Given the description of an element on the screen output the (x, y) to click on. 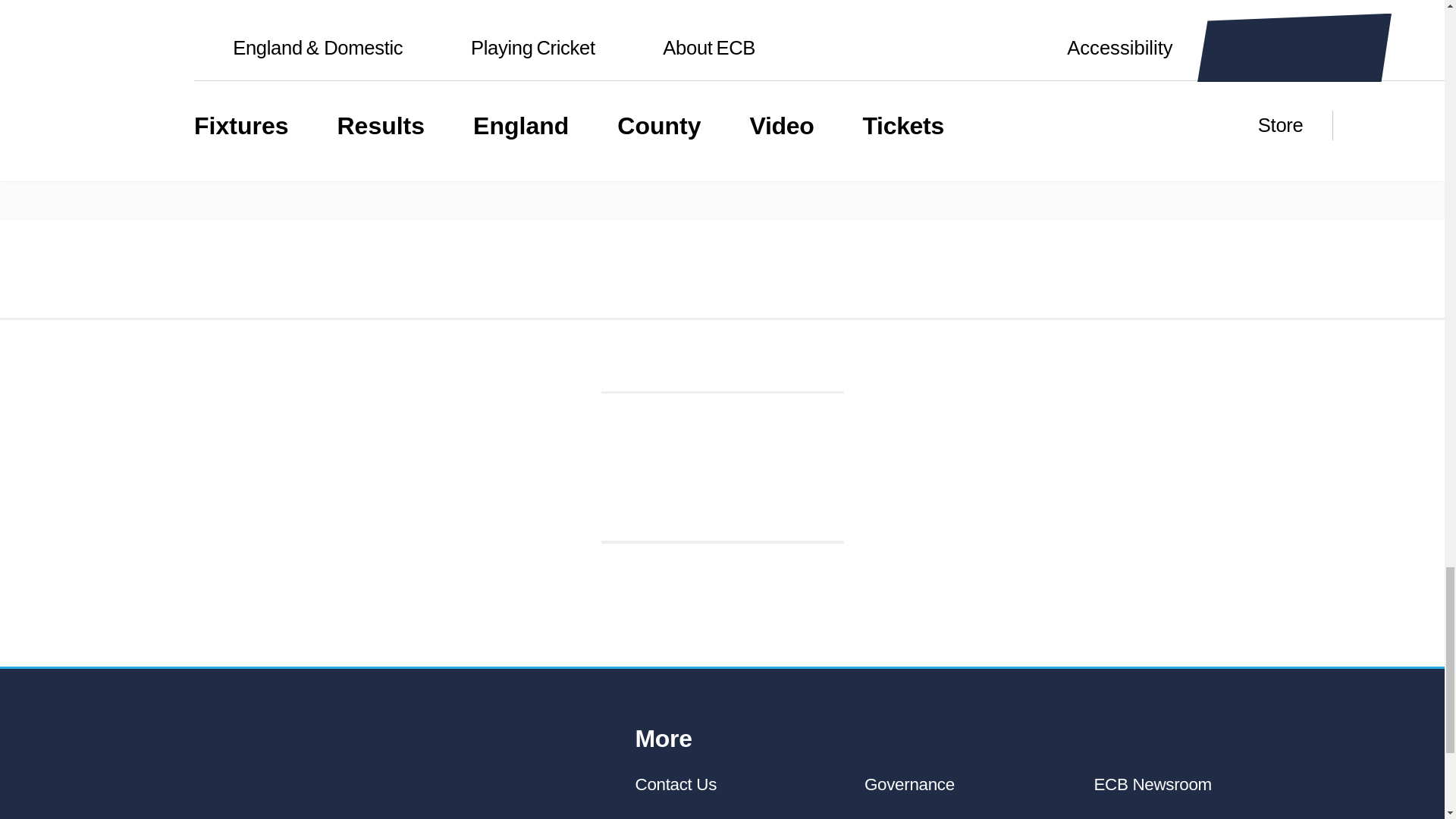
BBC Sport (794, 360)
IG (558, 493)
Castore (626, 493)
Rado (861, 493)
Metro Bank (368, 494)
Sky Sports (637, 361)
Laithwaites (736, 494)
Rothesay (224, 494)
Vitality (483, 494)
Cinch (722, 428)
